Given the description of an element on the screen output the (x, y) to click on. 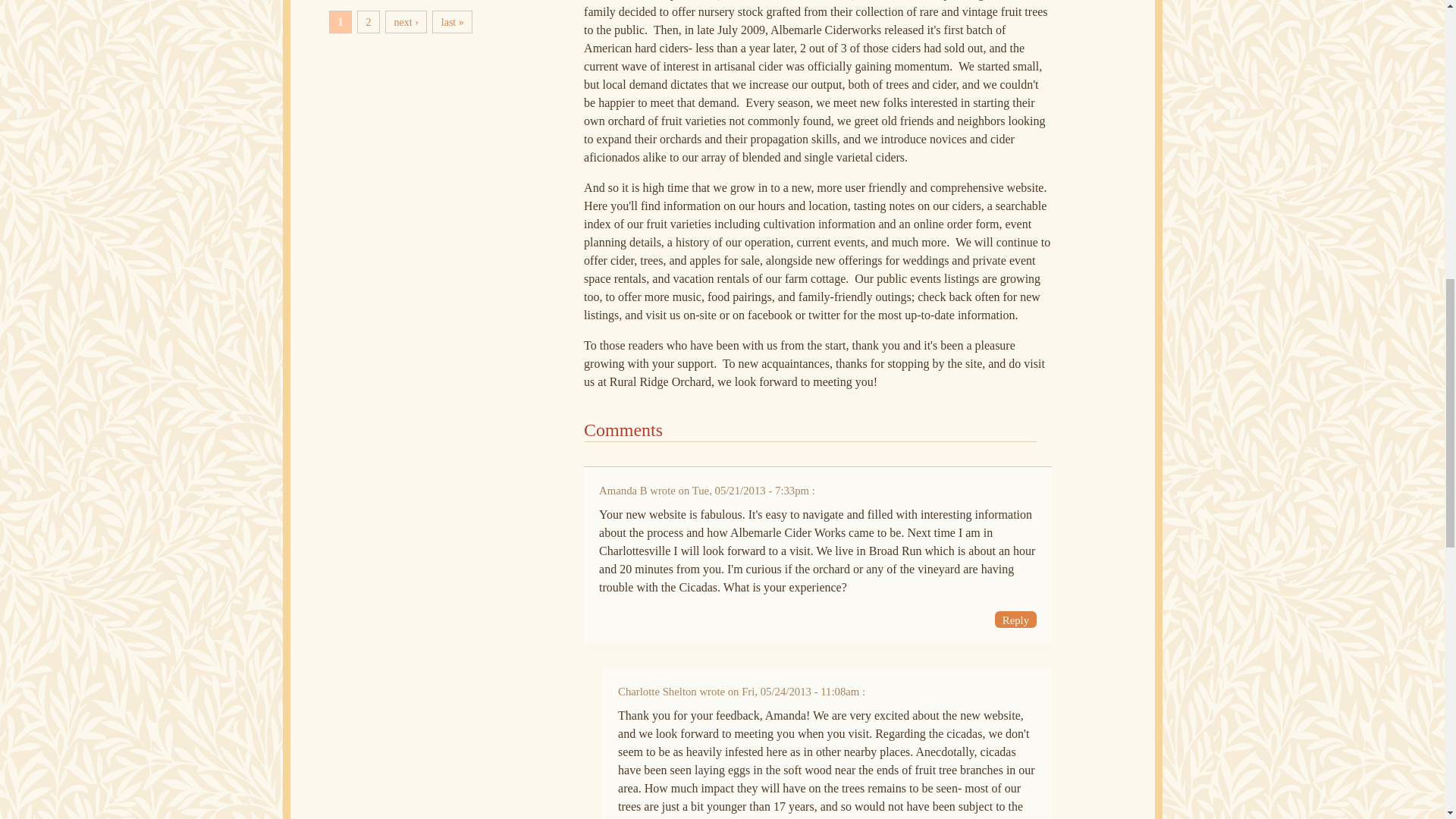
Go to last page (451, 21)
Go to page 2 (368, 21)
Go to next page (405, 21)
